Given the description of an element on the screen output the (x, y) to click on. 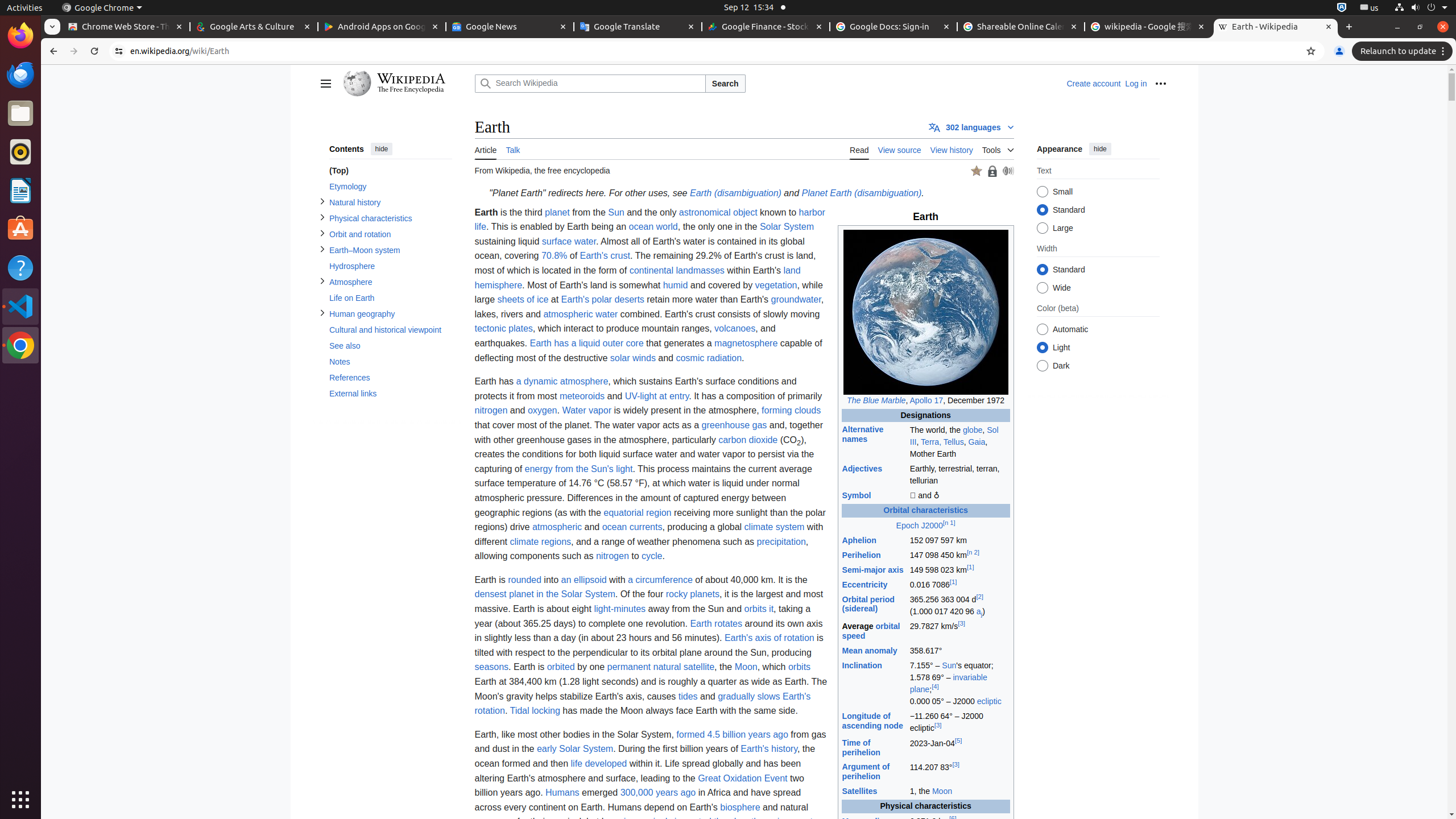
Relaunch to update Element type: push-button (1403, 50)
Log in Element type: link (1135, 83)
Human geography Element type: link (390, 313)
Bookmark this tab Element type: push-button (1310, 51)
Show Applications Element type: toggle-button (20, 799)
